Given the description of an element on the screen output the (x, y) to click on. 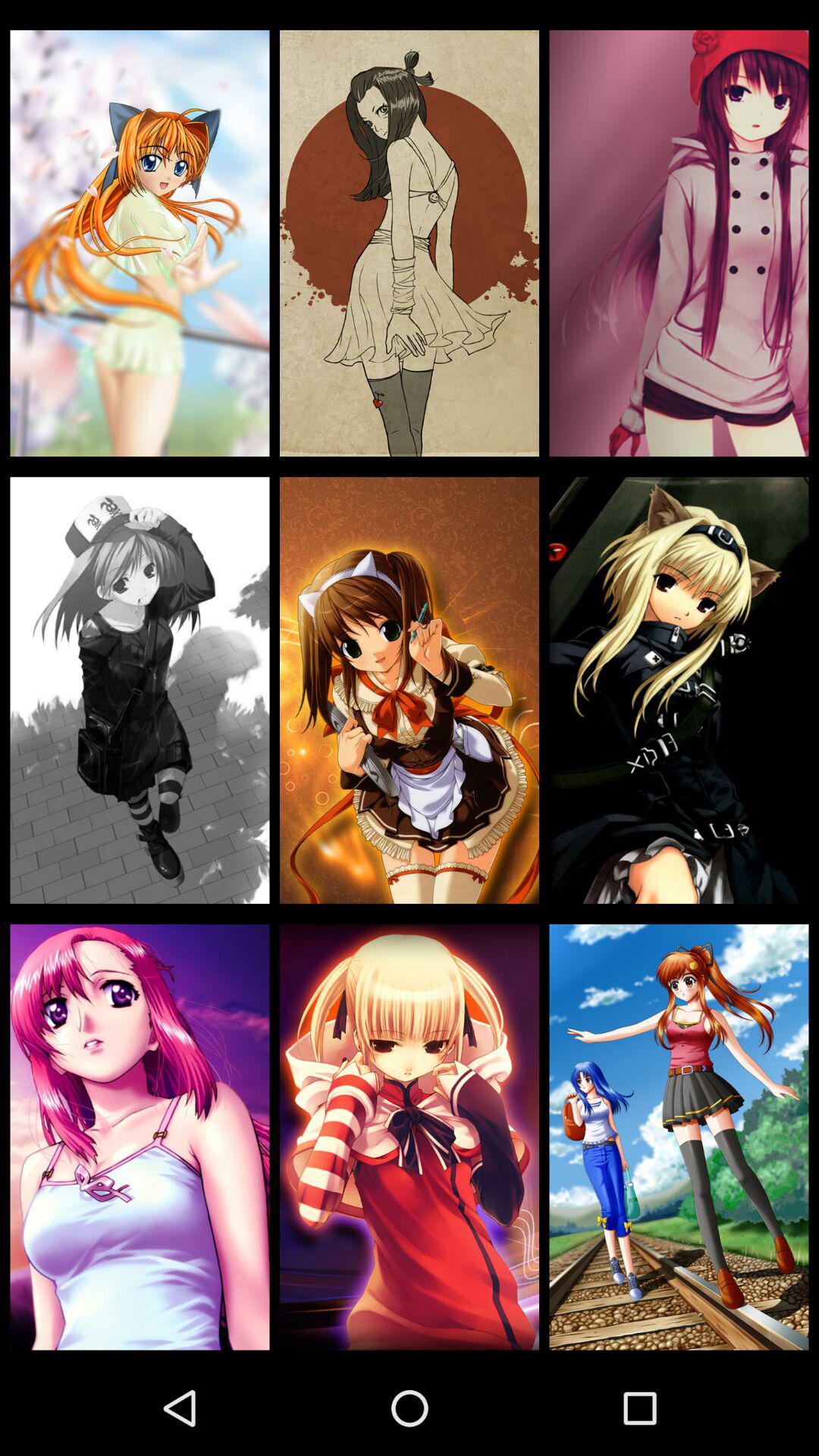
launch the icon at the top right corner (678, 243)
